Given the description of an element on the screen output the (x, y) to click on. 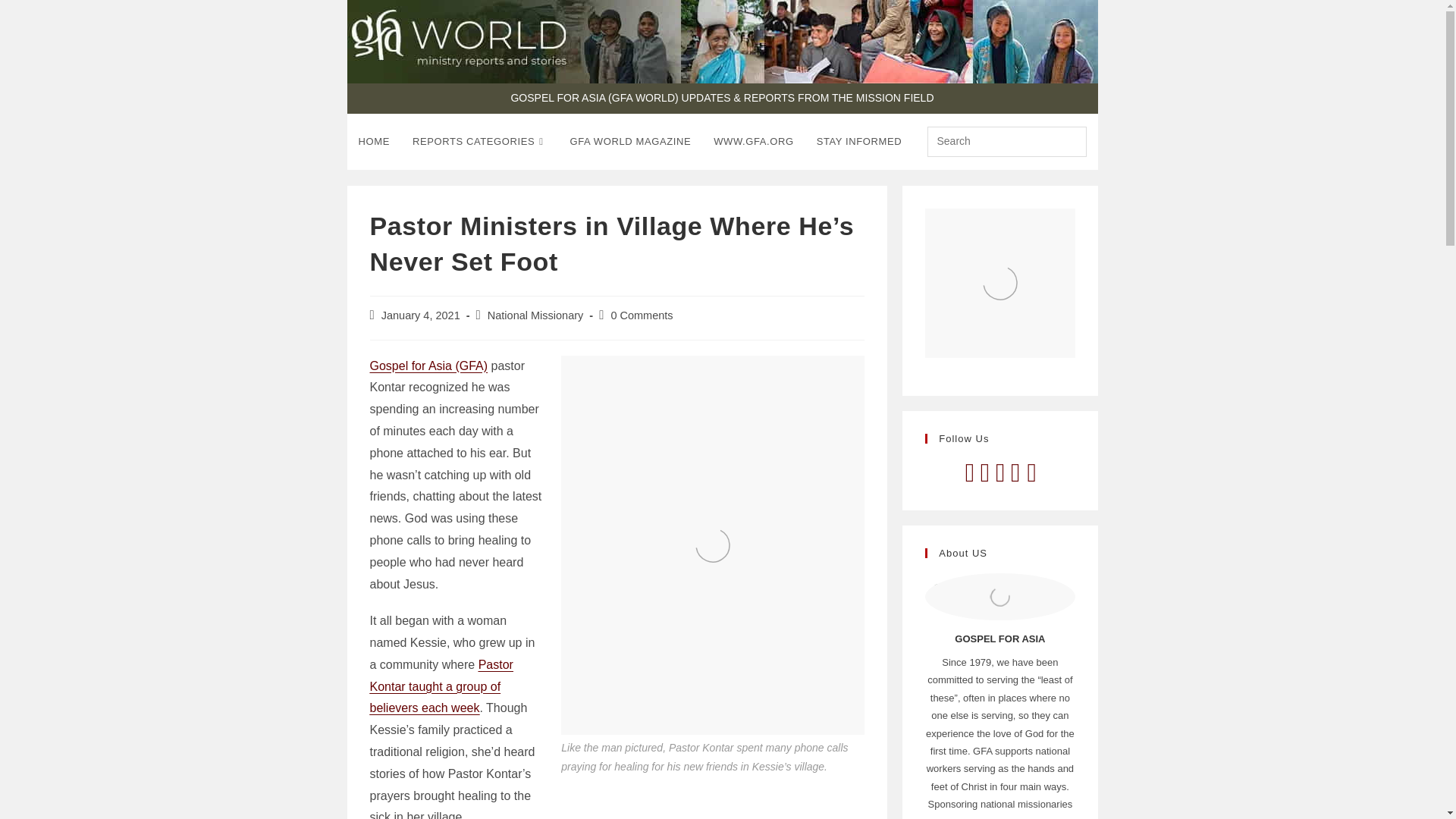
GFA WORLD MAGAZINE (631, 141)
National Missionary (535, 315)
STAY INFORMED (859, 141)
WWW.GFA.ORG (753, 141)
HOME (374, 141)
REPORTS CATEGORIES (480, 141)
Gospel for Asia: GFA World Magazine (631, 141)
